Given the description of an element on the screen output the (x, y) to click on. 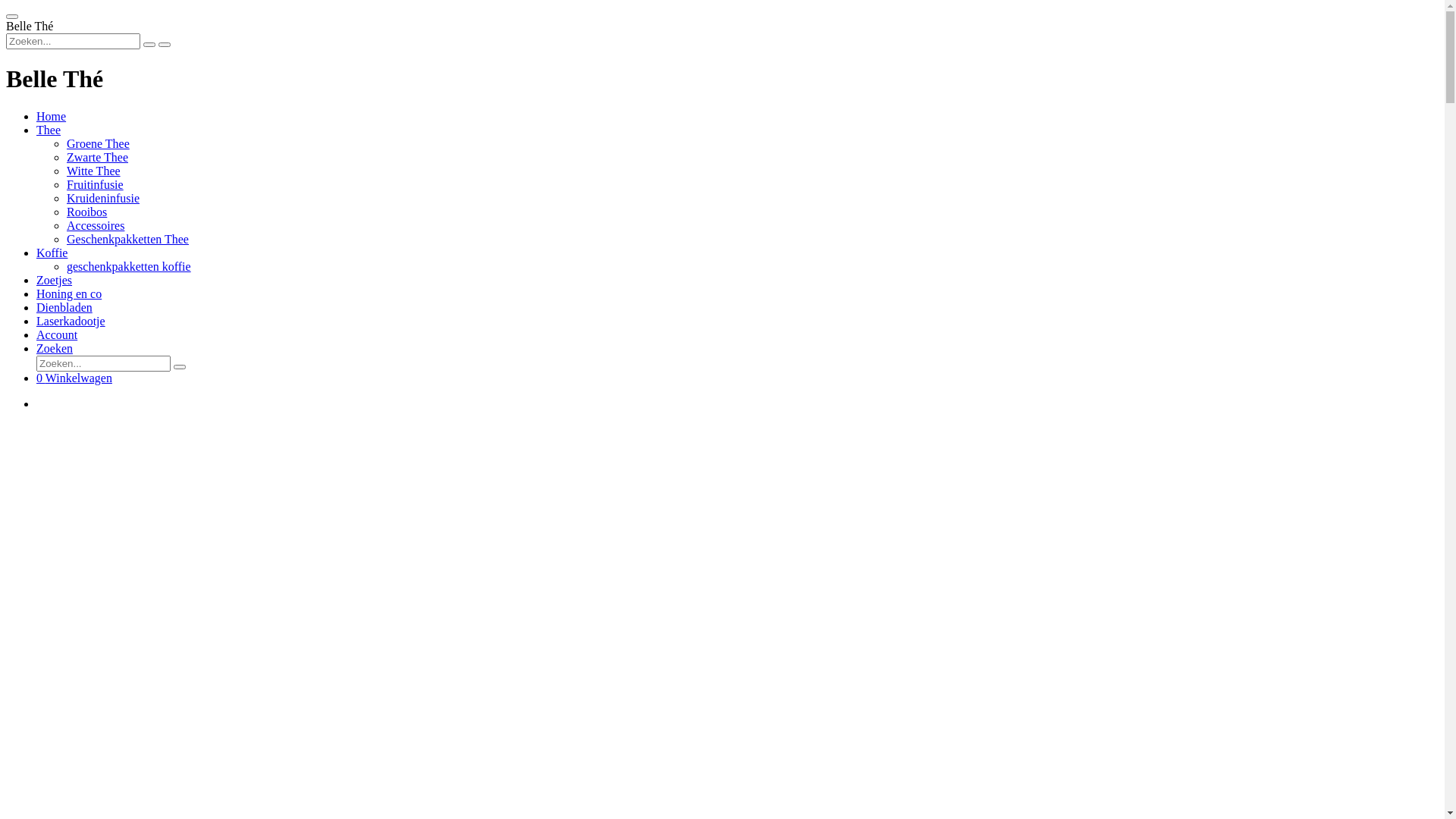
Witte Thee Element type: text (93, 170)
Geschenkpakketten Thee Element type: text (127, 238)
geschenkpakketten koffie Element type: text (128, 266)
Zoetjes Element type: text (54, 279)
Rooibos Element type: text (86, 211)
Laserkadootje Element type: text (70, 320)
Home Element type: text (50, 115)
Koffie Element type: text (51, 252)
Honing en co Element type: text (68, 293)
Dienbladen Element type: text (64, 307)
Kruideninfusie Element type: text (102, 197)
Thee Element type: text (48, 129)
Fruitinfusie Element type: text (94, 184)
Groene Thee Element type: text (97, 143)
Account Element type: text (56, 334)
Zoeken Element type: text (54, 348)
0 Winkelwagen Element type: text (74, 377)
Accessoires Element type: text (95, 225)
Zwarte Thee Element type: text (97, 156)
